Given the description of an element on the screen output the (x, y) to click on. 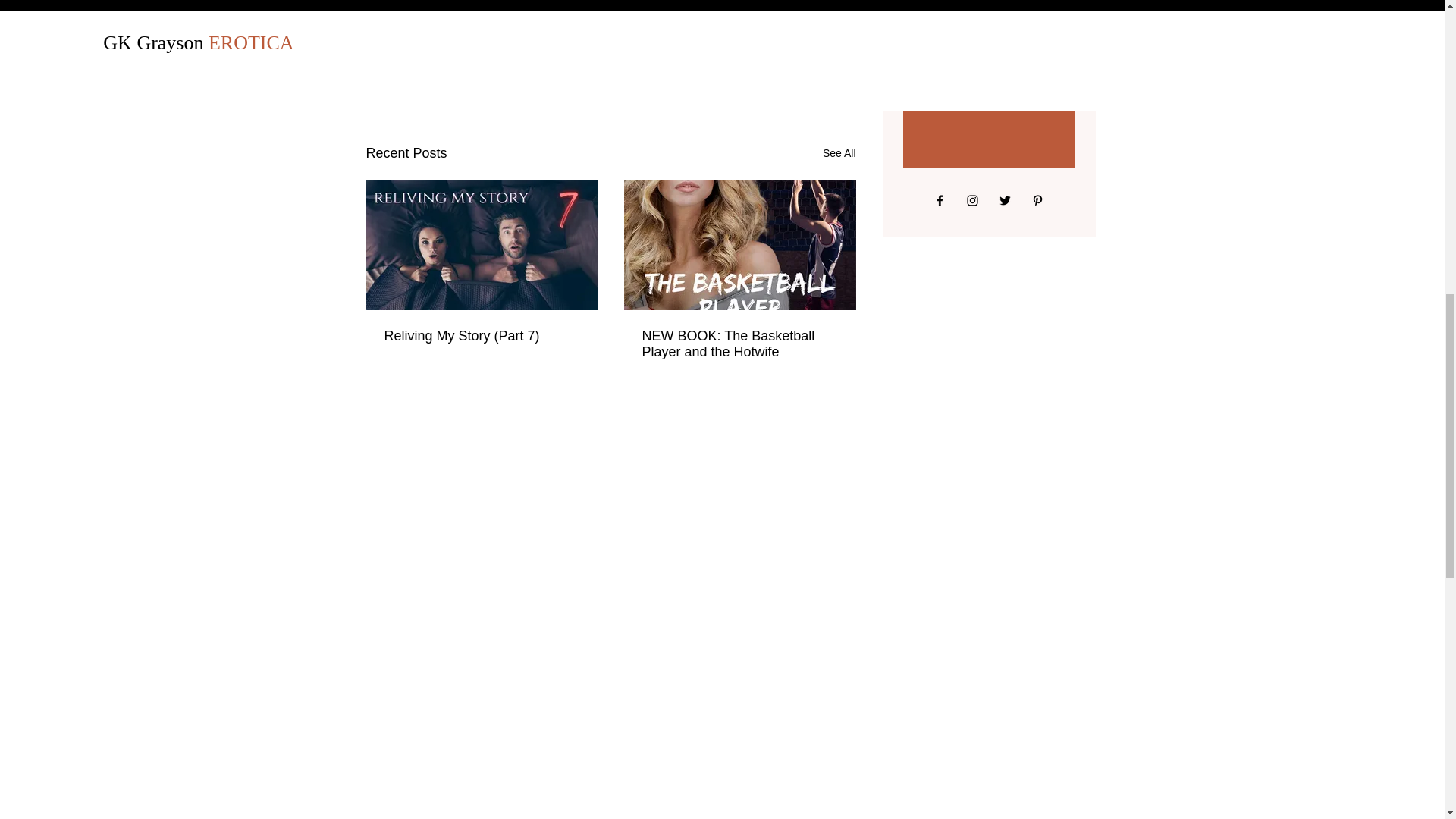
Subscribe (987, 92)
NEW BOOK: The Basketball Player and the Hotwife (739, 344)
See All (839, 153)
